Given the description of an element on the screen output the (x, y) to click on. 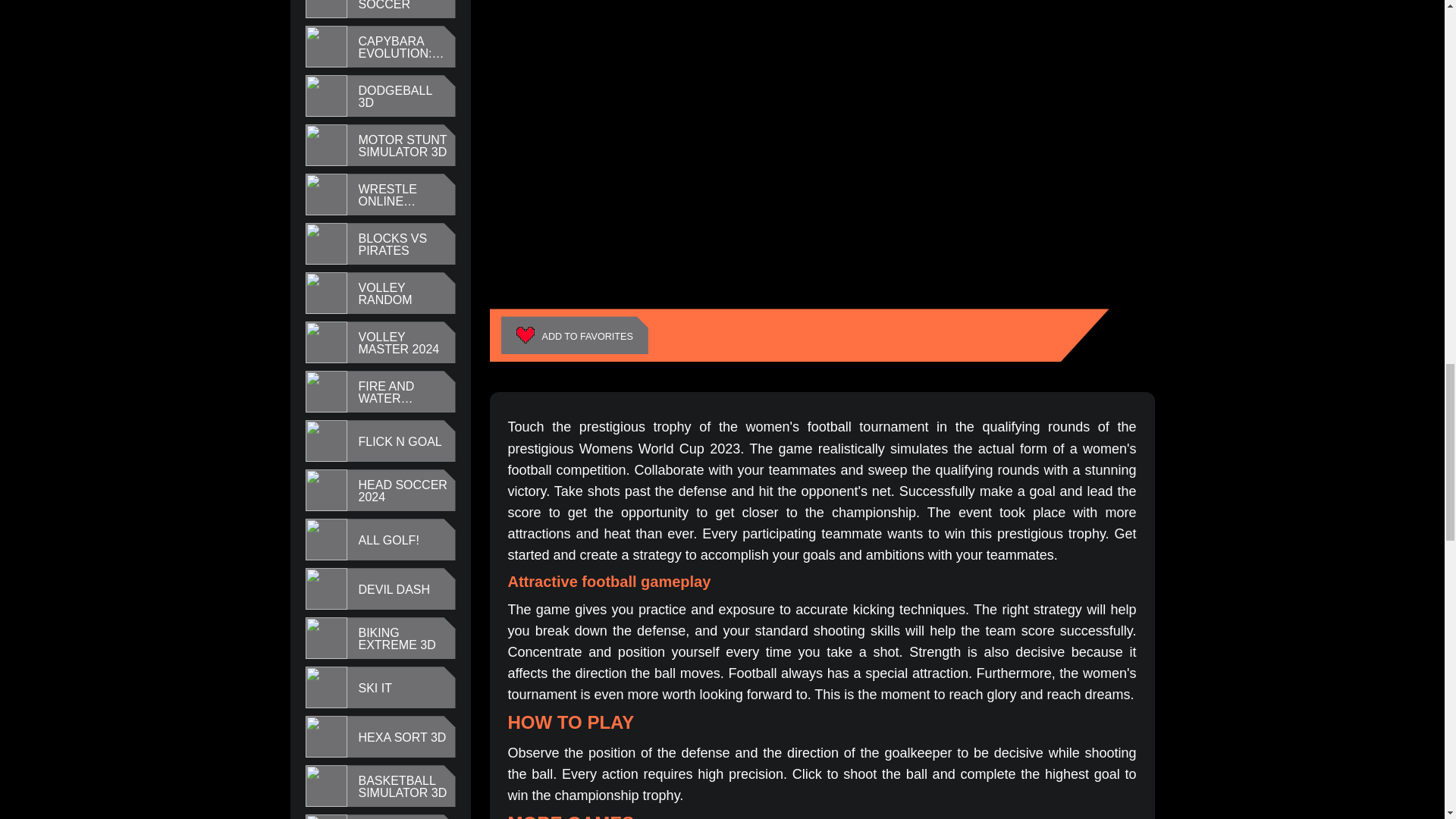
DODGEBALL 3D (402, 96)
HEXA SORT 3D (401, 737)
SKI IT (374, 688)
VOLLEY RANDOM (402, 293)
WRESTLE ONLINE SPORTS GAME (402, 195)
FLICK N GOAL (399, 441)
BASKETBALL SIMULATOR 3D (402, 786)
GOAL FINGER SOCCER (402, 5)
CAPYBARA EVOLUTION: CLICKER (402, 47)
HEAD SOCCER 2024 (402, 491)
